Given the description of an element on the screen output the (x, y) to click on. 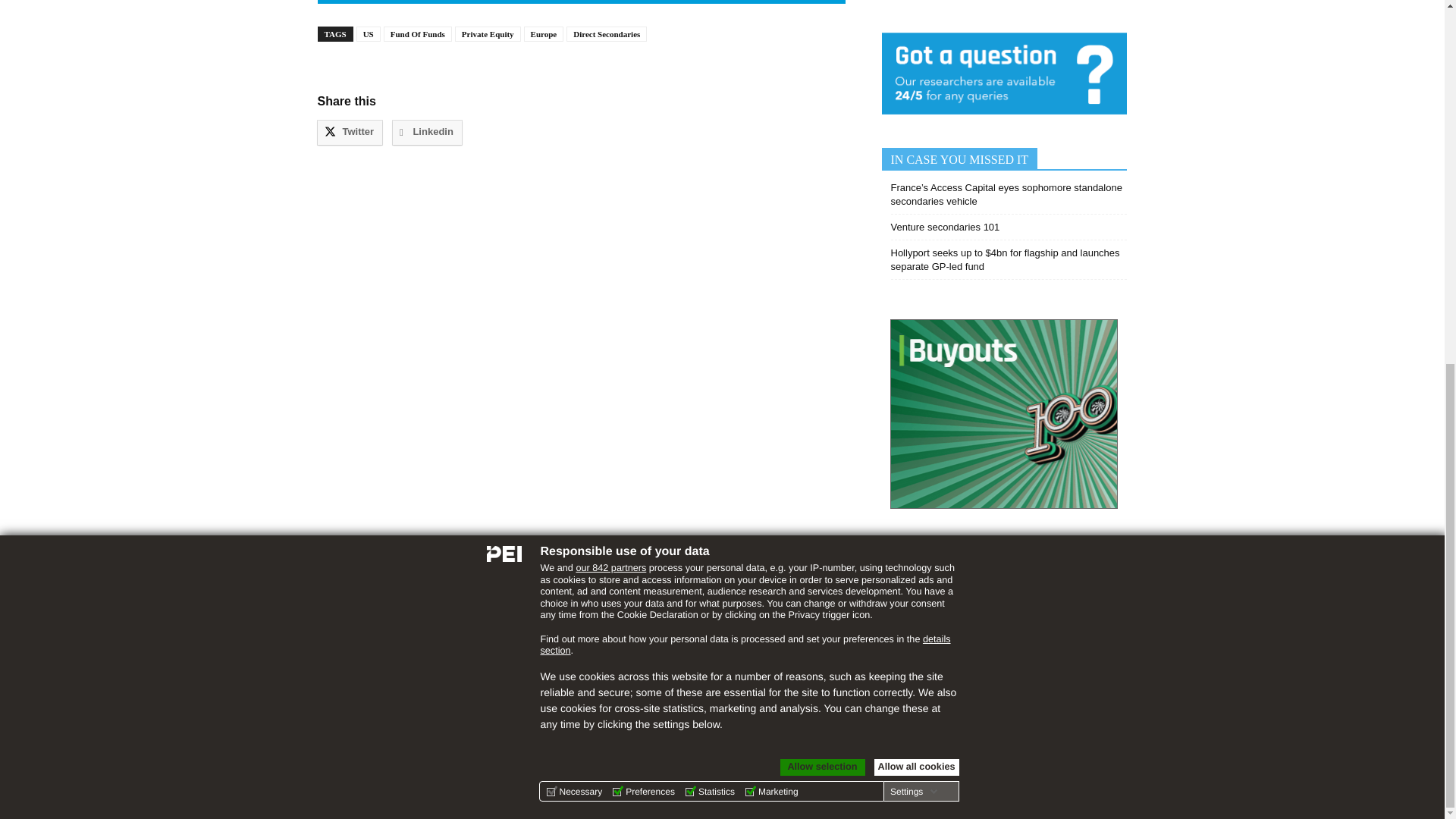
Settings (913, 139)
Allow selection (821, 115)
details section (745, 2)
Allow all cookies (915, 115)
